Given the description of an element on the screen output the (x, y) to click on. 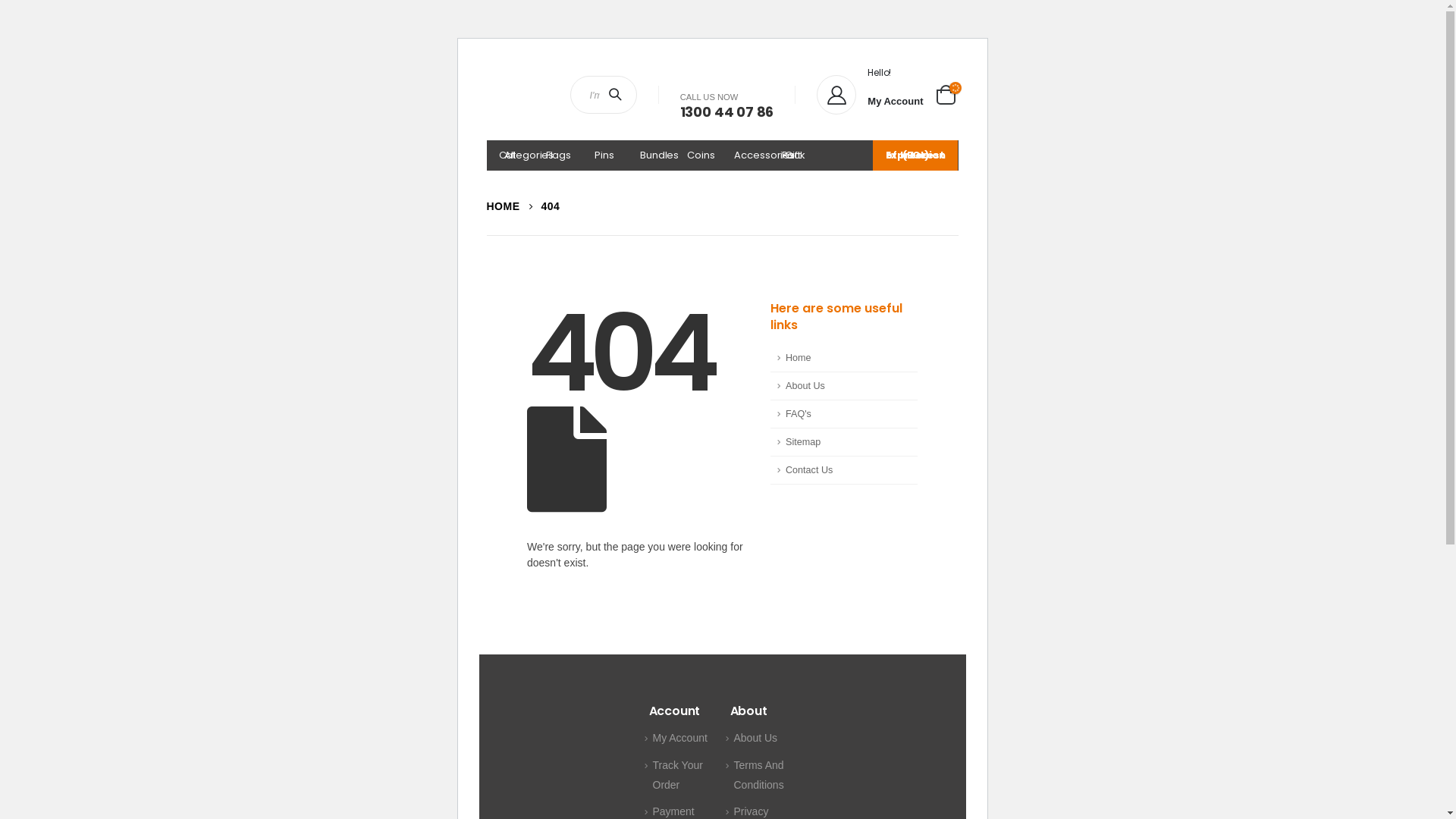
Sitemap Element type: text (843, 442)
Contact Us Element type: text (843, 470)
About Us Element type: text (843, 386)
My Account Element type: text (679, 737)
Pins Element type: text (603, 155)
Gift Pack Element type: text (792, 155)
Hello!
My Account Element type: text (869, 94)
Coins Element type: text (697, 155)
Expression of Interest (EOI) Element type: text (914, 155)
Bundles Element type: text (650, 155)
Terms And Conditions Element type: text (759, 774)
Track Your Order Element type: text (677, 774)
Home Element type: text (843, 358)
About Us Element type: text (756, 737)
Search Element type: hover (617, 94)
Flags Element type: text (556, 155)
Accessories Element type: text (744, 155)
All Categories Element type: text (509, 155)
FAQ's Element type: text (843, 414)
HOME Element type: text (503, 206)
